Given the description of an element on the screen output the (x, y) to click on. 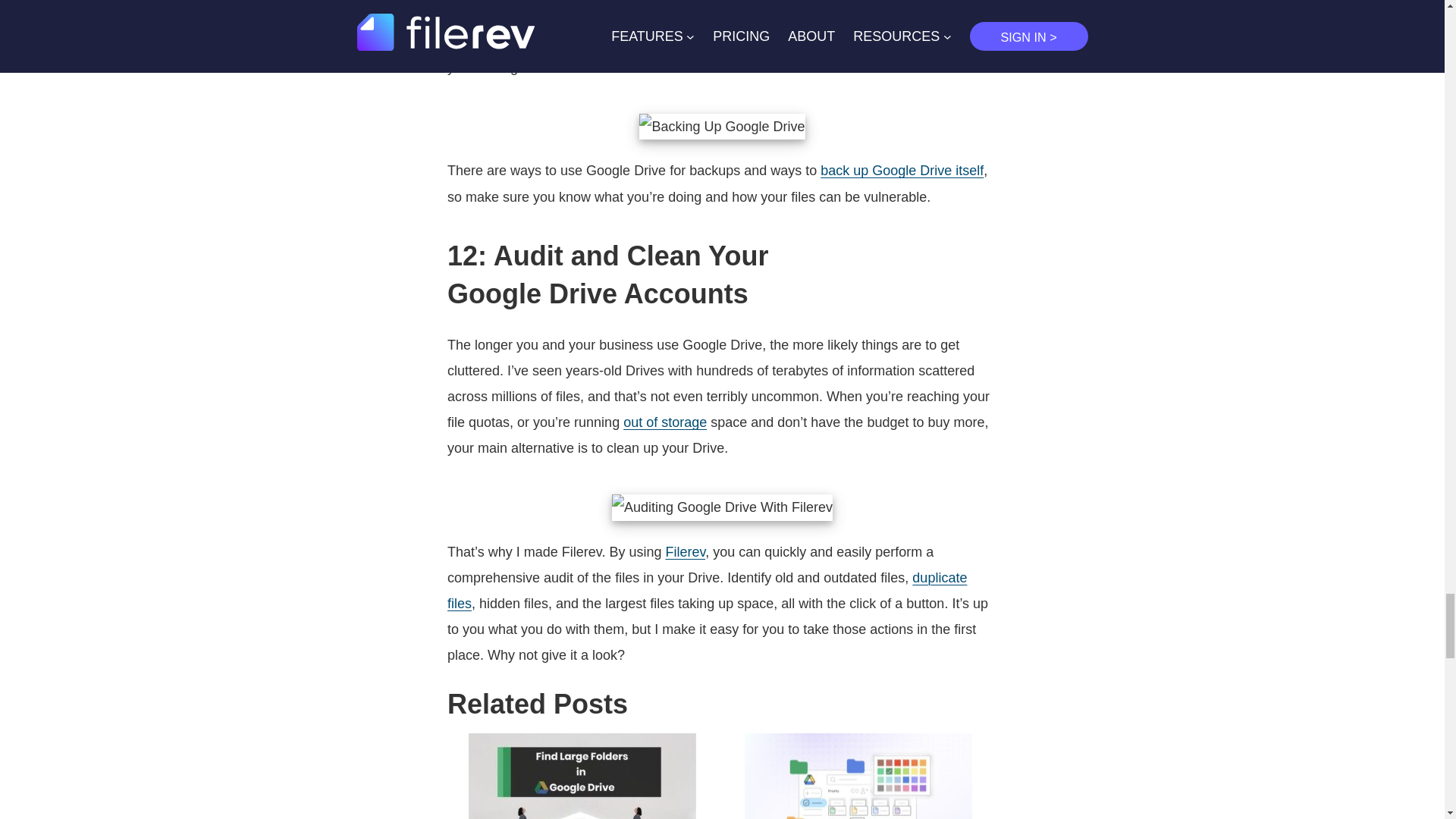
out of storage (664, 421)
Powerful Tool to See Your Google Drive Folder Size (582, 774)
duplicate files (706, 590)
